Given the description of an element on the screen output the (x, y) to click on. 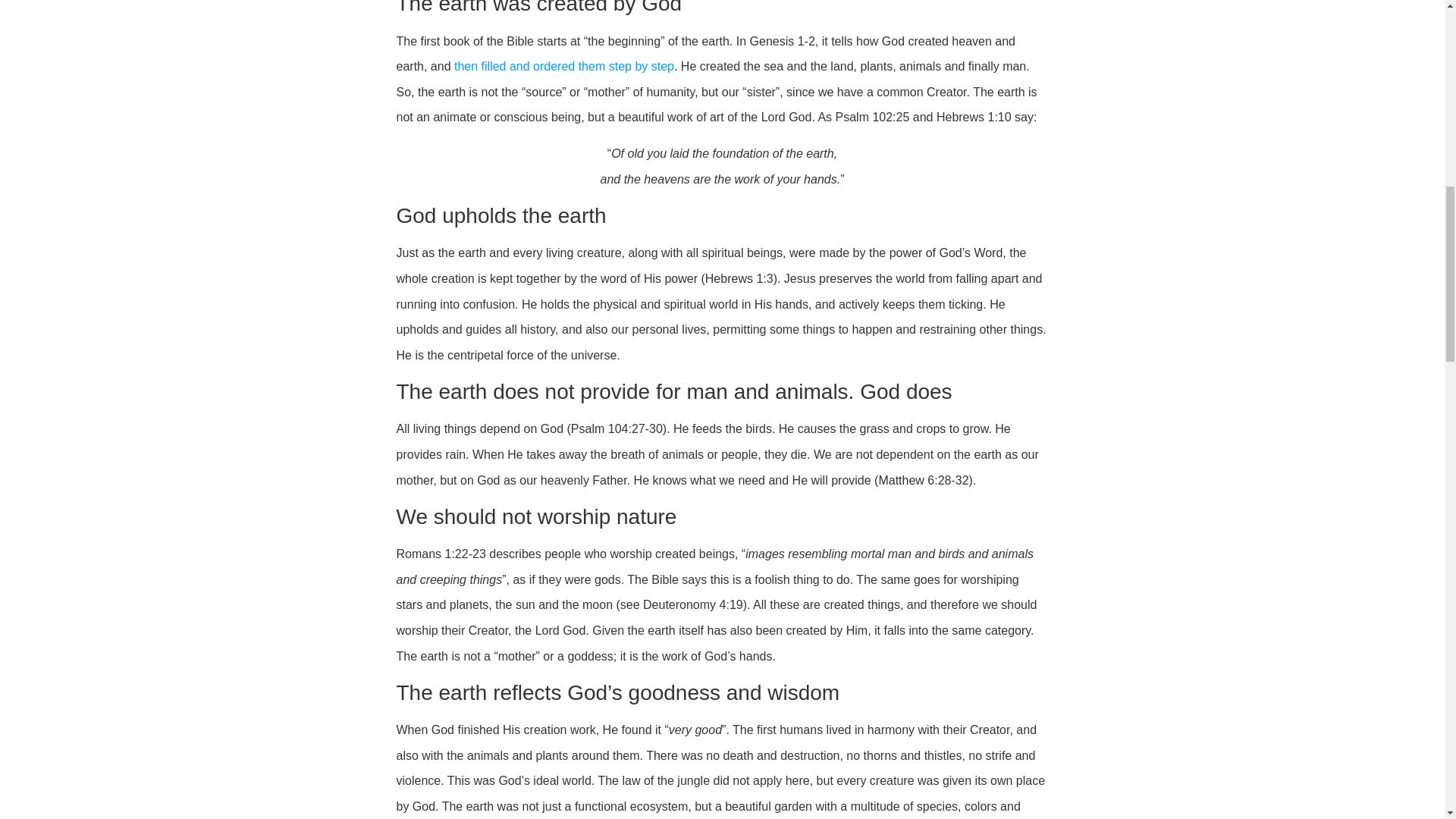
then filled and ordered them step by step (564, 65)
